Given the description of an element on the screen output the (x, y) to click on. 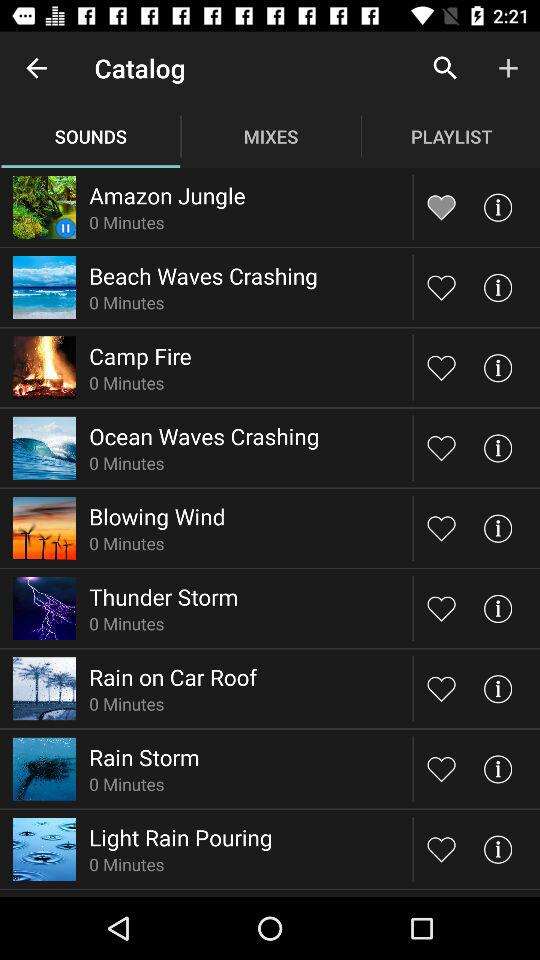
like sound (441, 768)
